Given the description of an element on the screen output the (x, y) to click on. 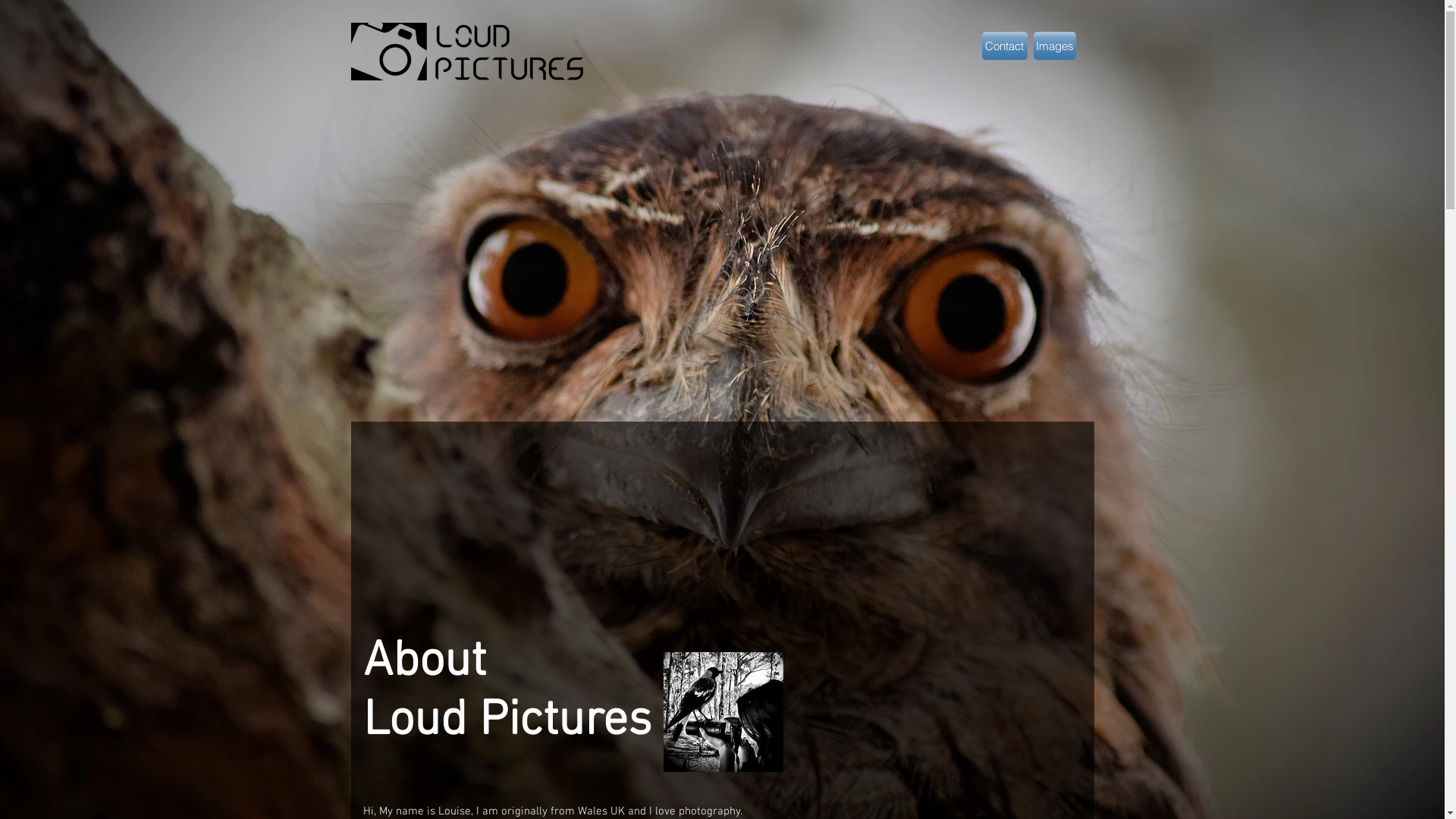
Contact Element type: text (1003, 45)
Images Element type: text (1053, 45)
